Given the description of an element on the screen output the (x, y) to click on. 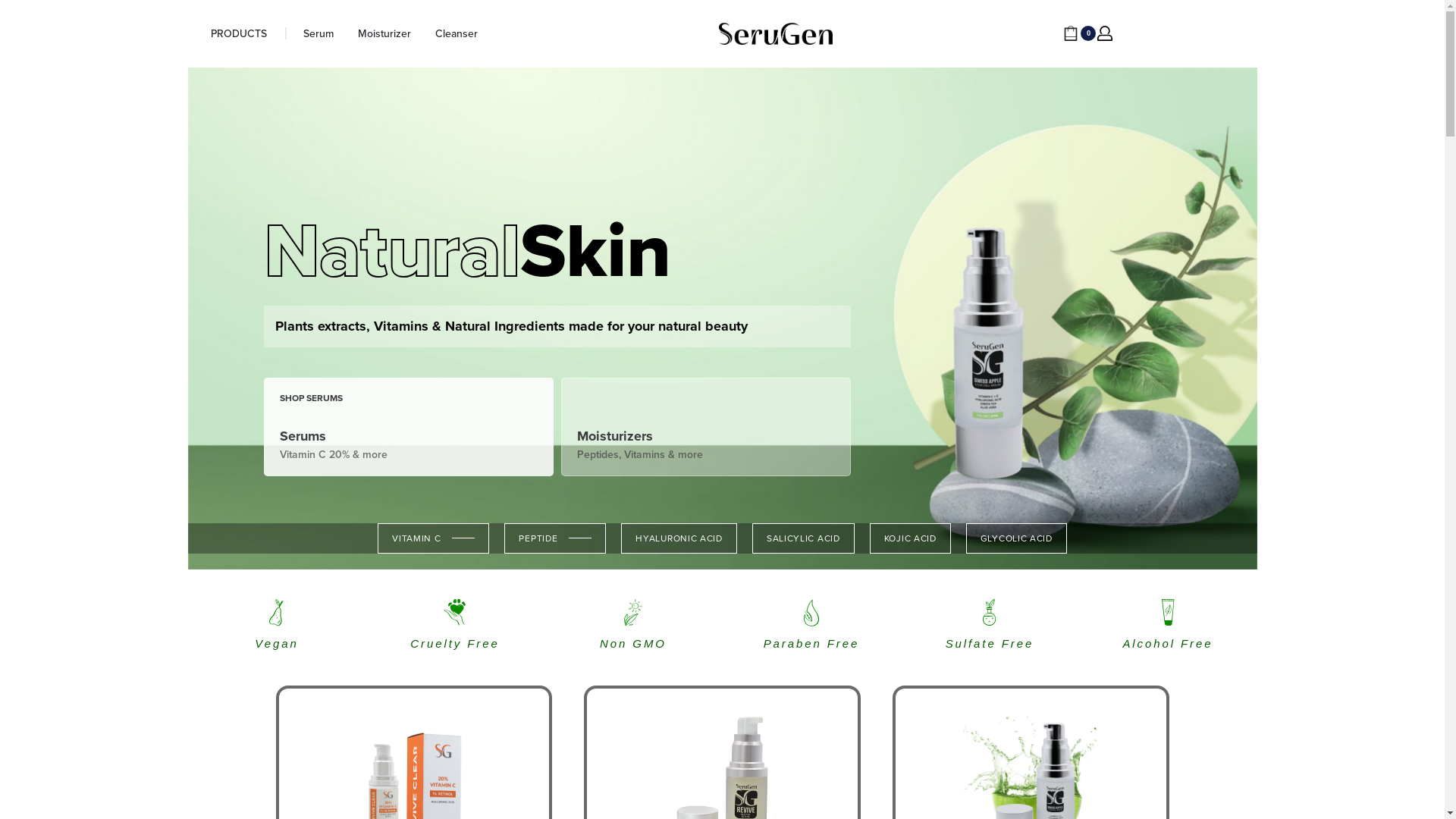
PEPTIDE Element type: text (554, 538)
KOJIC ACID Element type: text (909, 538)
GLYCOLIC ACID Element type: text (1016, 538)
VITAMIN C Element type: text (433, 538)
SALICYLIC ACID Element type: text (803, 538)
Moisturizers
Peptides, Vitamins & more Element type: text (705, 426)
HYALURONIC ACID Element type: text (679, 538)
Serum Element type: text (318, 34)
PRODUCTS Element type: text (238, 34)
Cleanser Element type: text (456, 34)
0 Element type: text (1079, 33)
SHOP SERUMS
Serums
Vitamin C 20% & more Element type: text (408, 426)
Moisturizer Element type: text (384, 34)
